Given the description of an element on the screen output the (x, y) to click on. 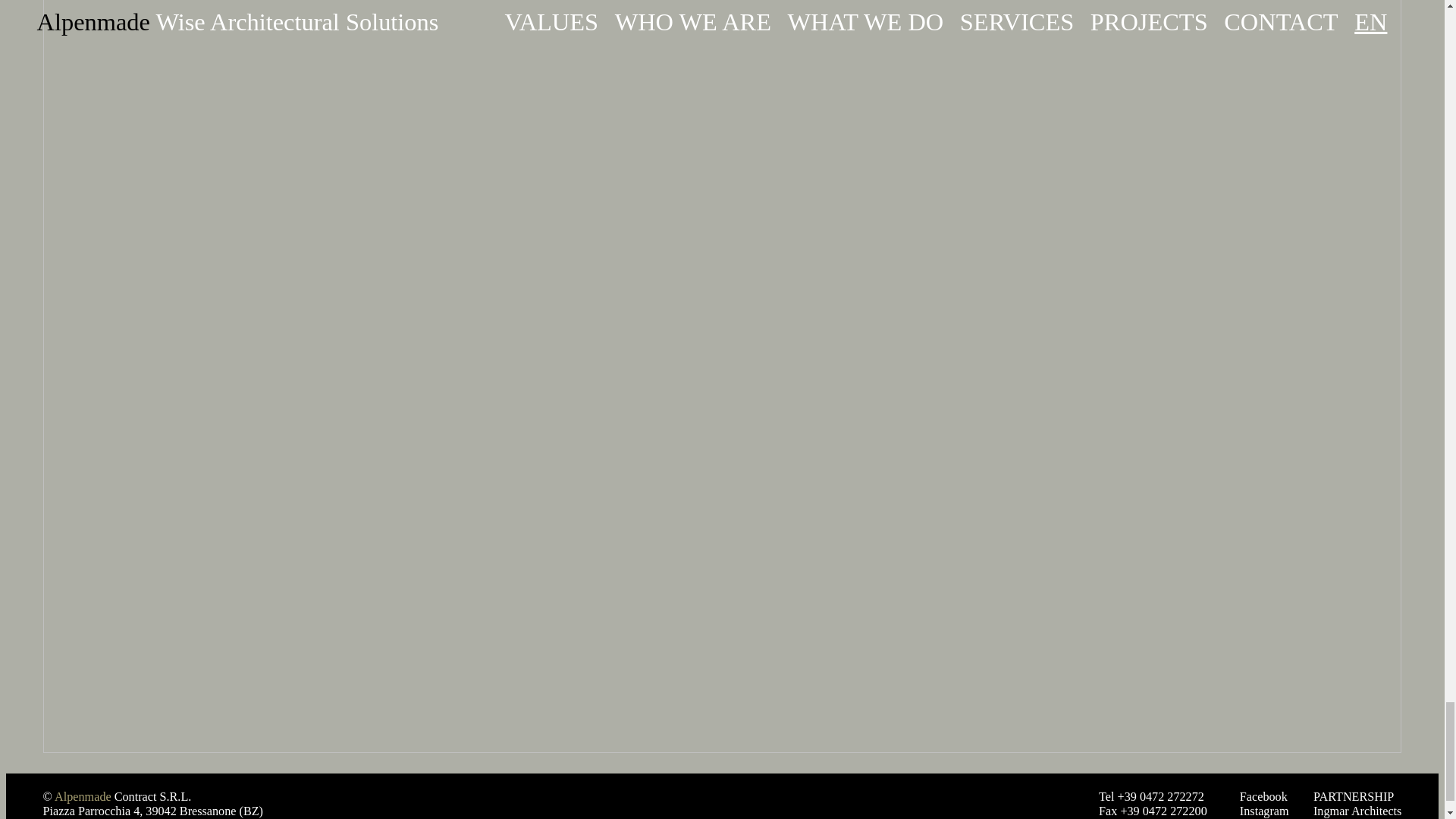
Facebook (1263, 797)
Instagram (1264, 811)
Ingmar Architects (1356, 811)
